Given the description of an element on the screen output the (x, y) to click on. 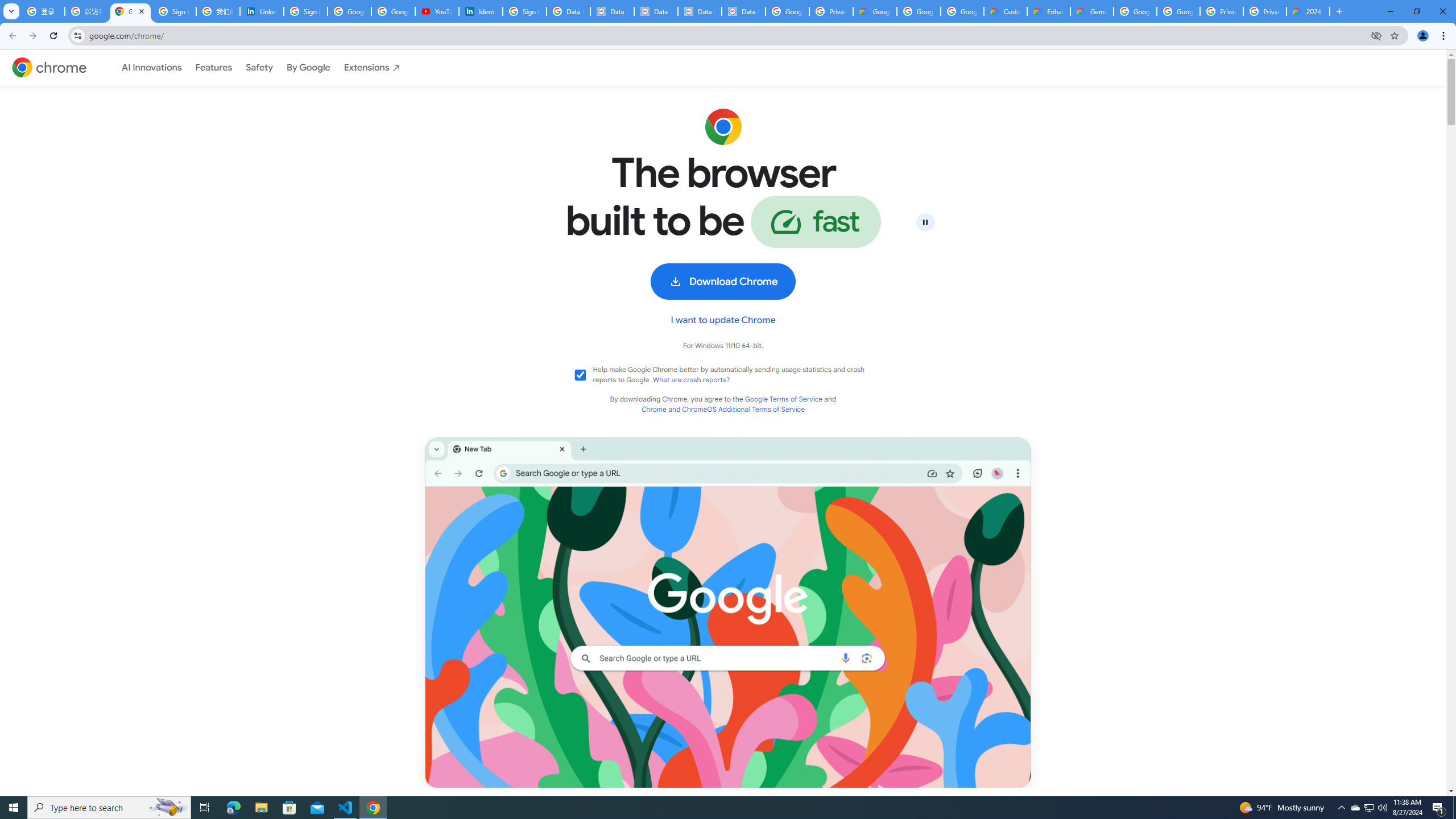
safety (259, 67)
Gemini for Business and Developers | Google Cloud (1091, 11)
Google Terms of Service (783, 398)
Google Cloud Terms Directory | Google Cloud (874, 11)
Data Privacy Framework (655, 11)
I want to update Chrome (723, 319)
